Given the description of an element on the screen output the (x, y) to click on. 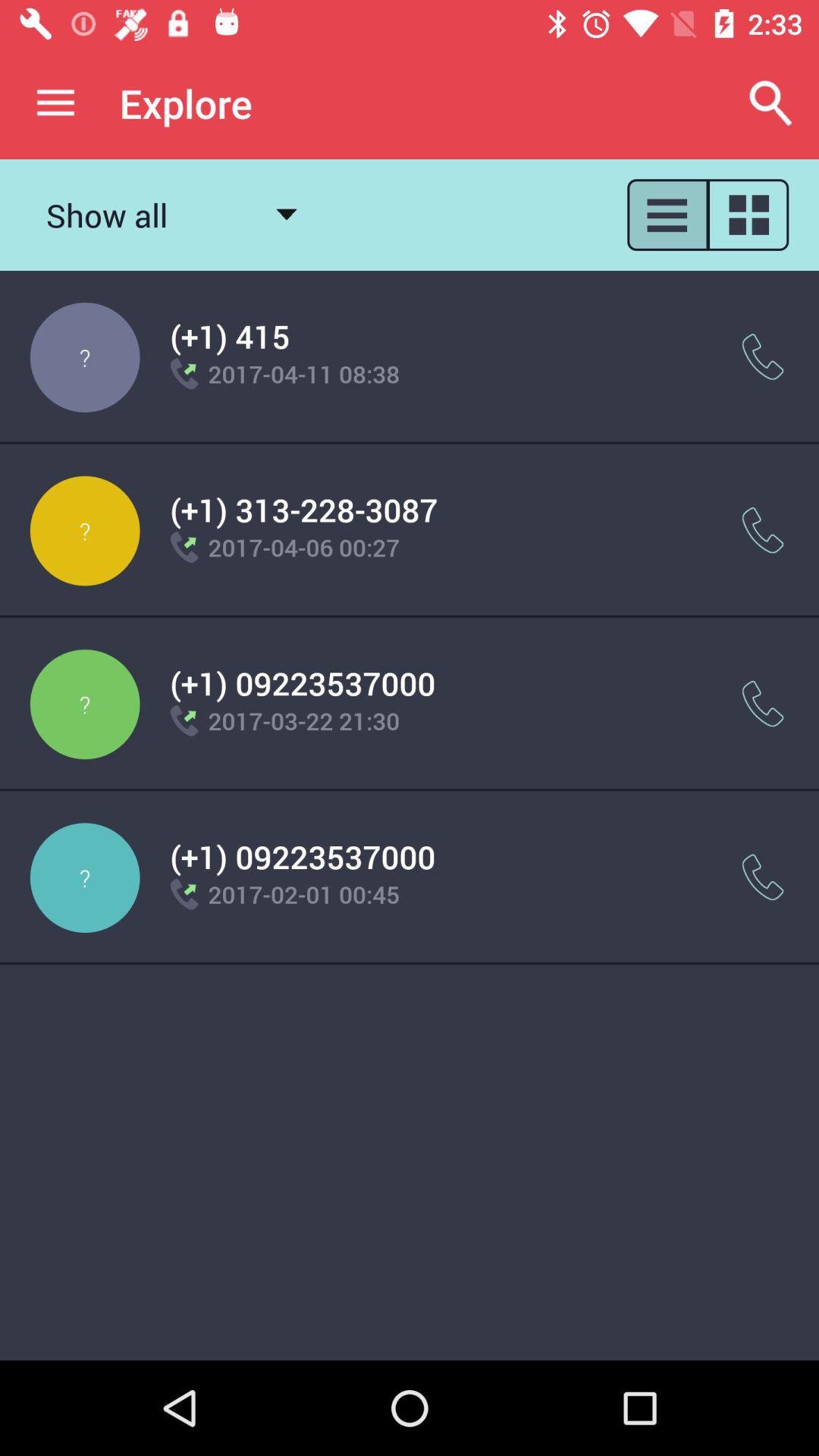
call phone number (762, 703)
